Given the description of an element on the screen output the (x, y) to click on. 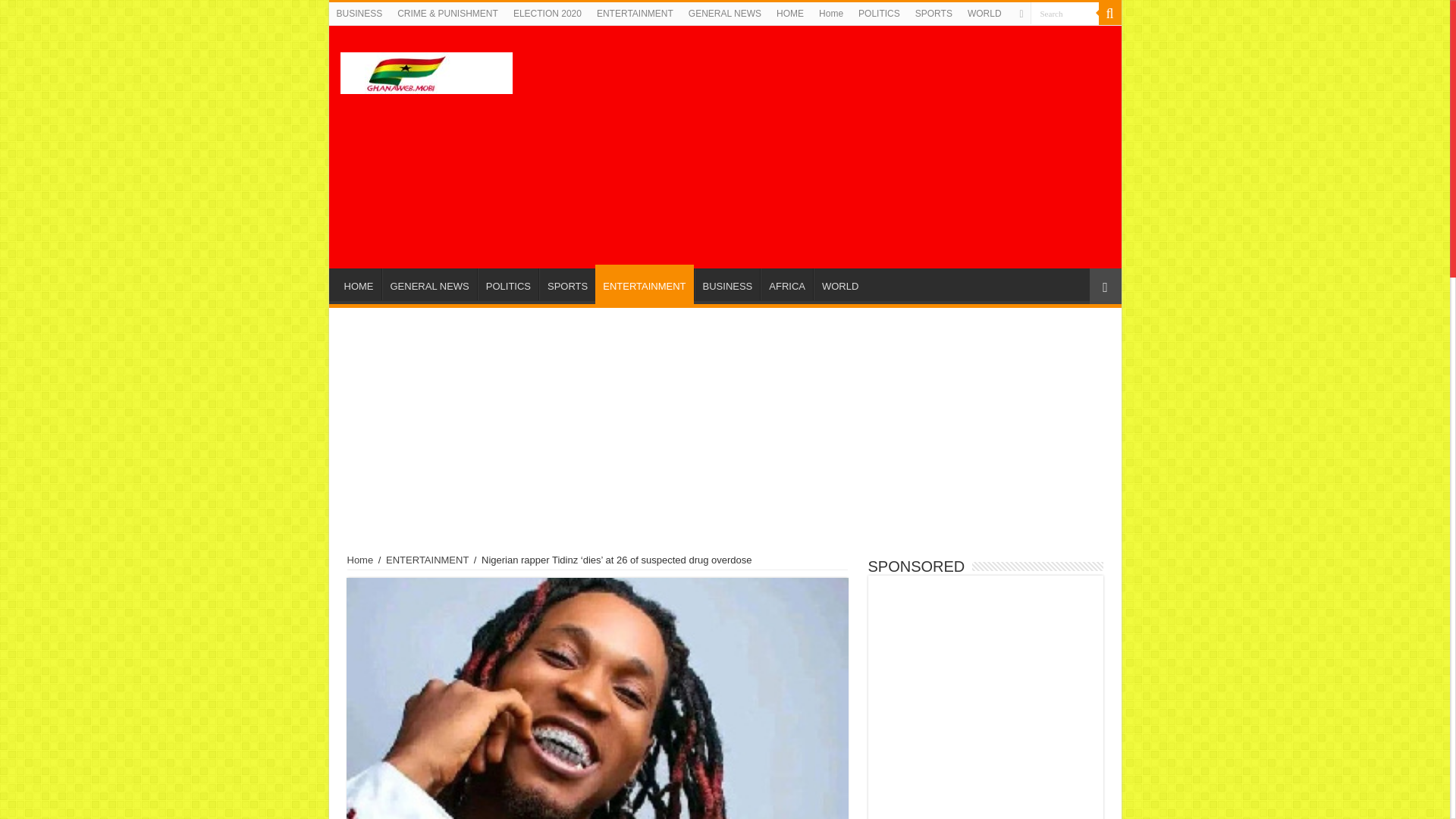
Home Of Ghana News (425, 70)
POLITICS (878, 13)
WORLD (839, 284)
BUSINESS (359, 13)
HOME (789, 13)
Home (830, 13)
ENTERTAINMENT (426, 559)
HOME (358, 284)
Search (1109, 13)
SPORTS (566, 284)
